Given the description of an element on the screen output the (x, y) to click on. 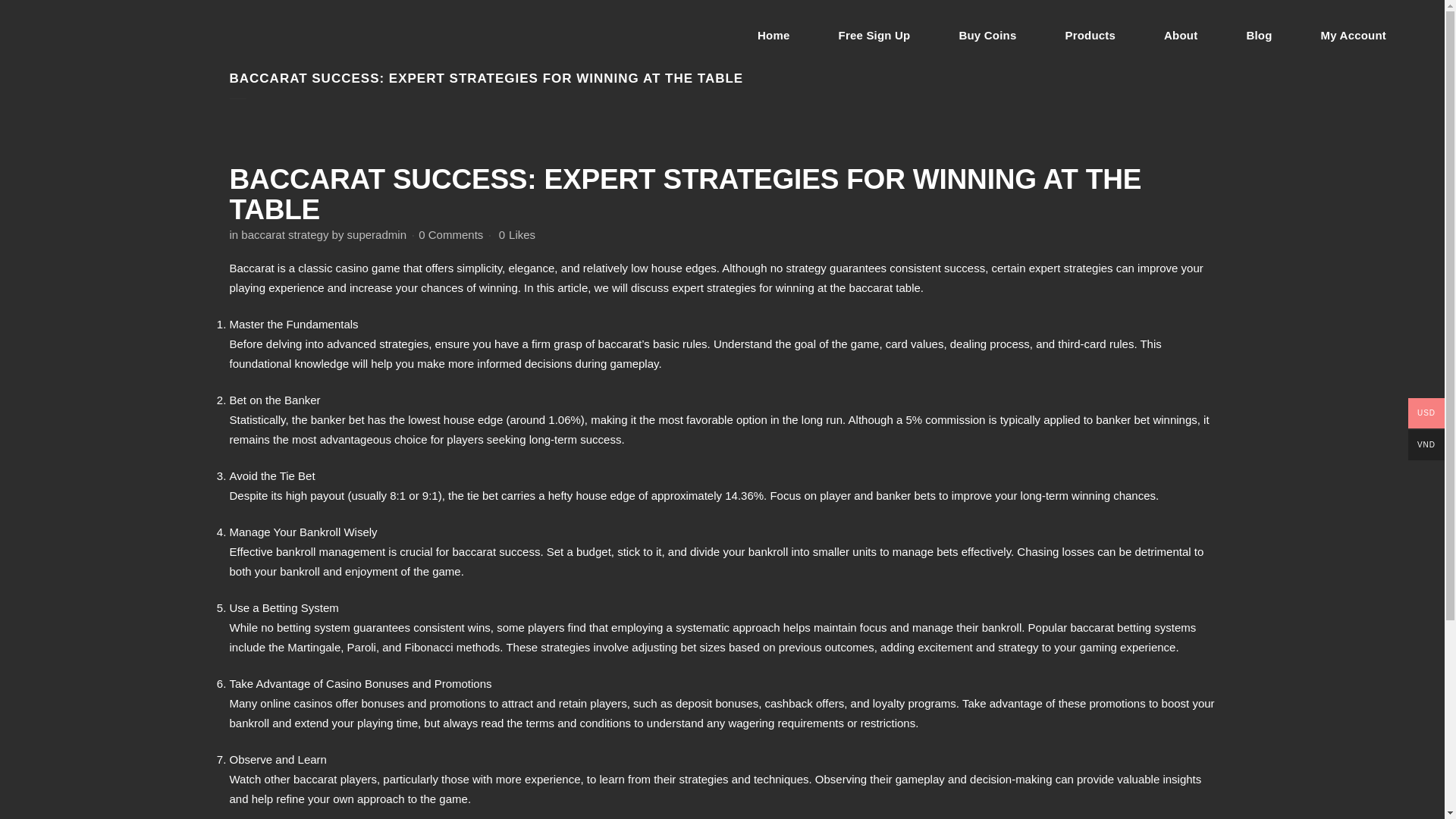
Home (773, 35)
Buy Coins (987, 35)
Products (1090, 35)
Free Sign Up (873, 35)
Like this (517, 235)
My Account (1353, 35)
Blog (1258, 35)
About (1180, 35)
